Given the description of an element on the screen output the (x, y) to click on. 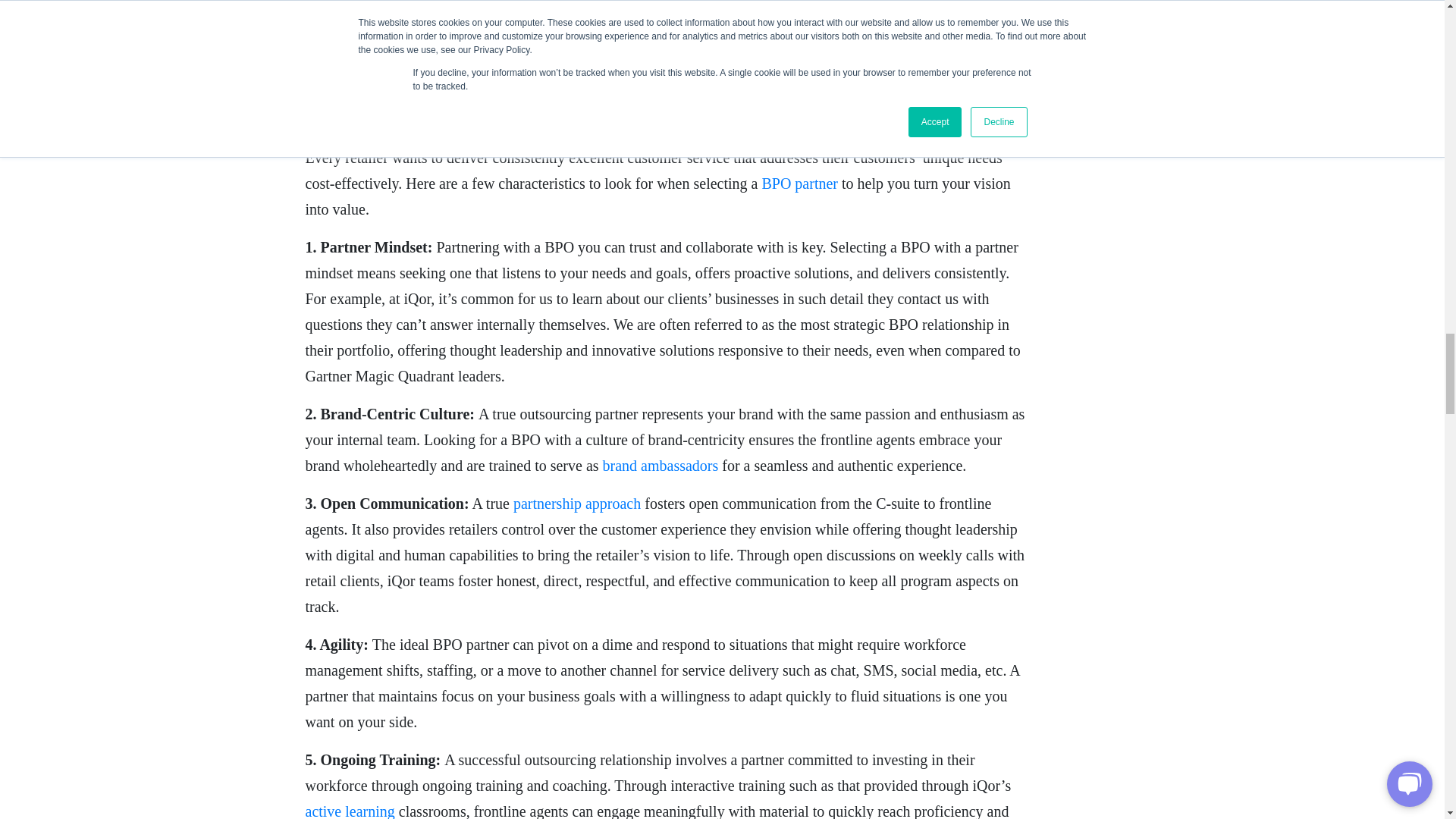
Embedded CTA (664, 31)
